Given the description of an element on the screen output the (x, y) to click on. 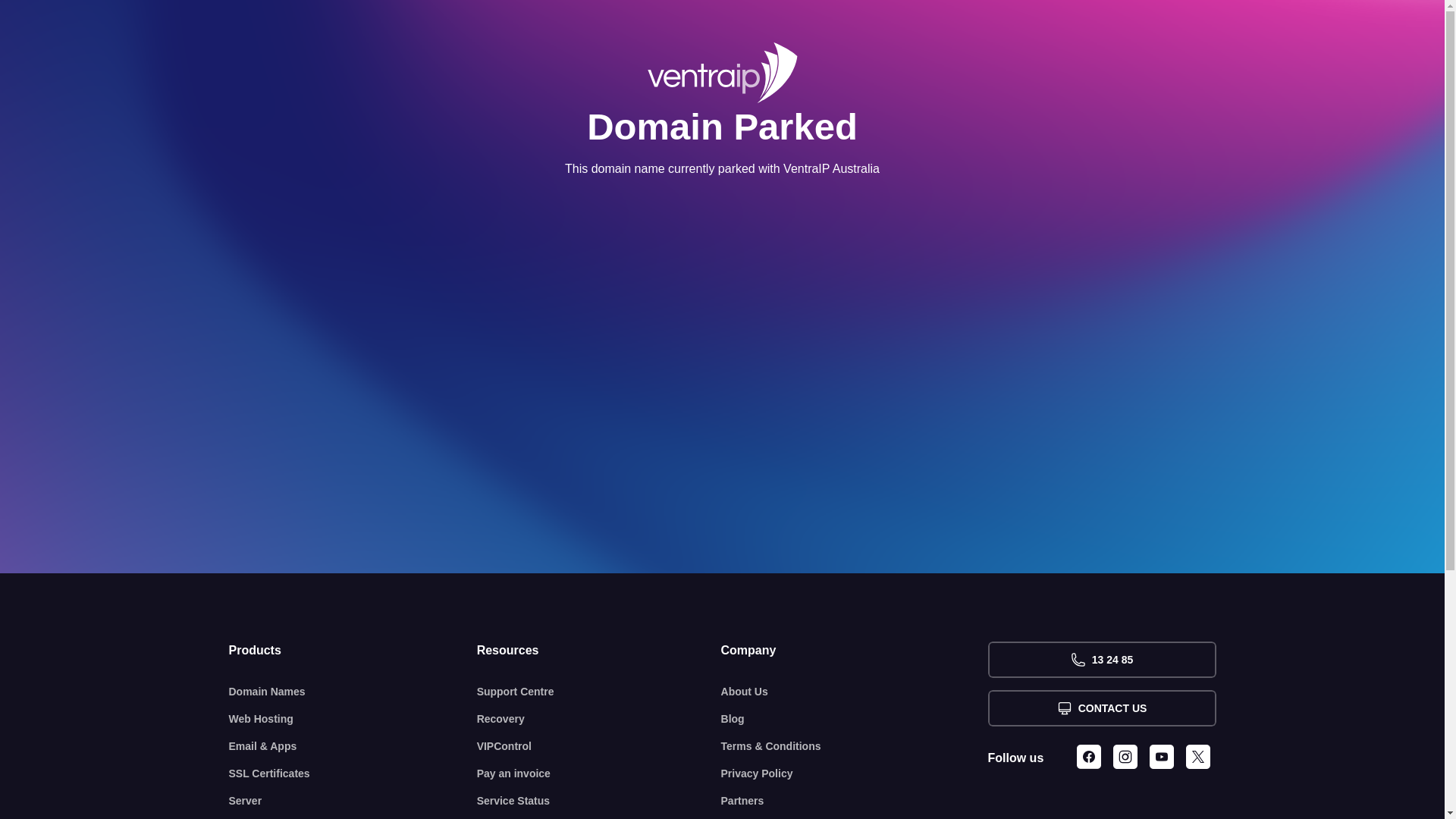
Server Element type: text (352, 800)
SSL Certificates Element type: text (352, 773)
VIPControl Element type: text (598, 745)
About Us Element type: text (854, 691)
CONTACT US Element type: text (1101, 708)
Recovery Element type: text (598, 718)
Web Hosting Element type: text (352, 718)
Support Centre Element type: text (598, 691)
Terms & Conditions Element type: text (854, 745)
Partners Element type: text (854, 800)
13 24 85 Element type: text (1101, 659)
Blog Element type: text (854, 718)
Service Status Element type: text (598, 800)
Domain Names Element type: text (352, 691)
Pay an invoice Element type: text (598, 773)
Email & Apps Element type: text (352, 745)
Privacy Policy Element type: text (854, 773)
